Given the description of an element on the screen output the (x, y) to click on. 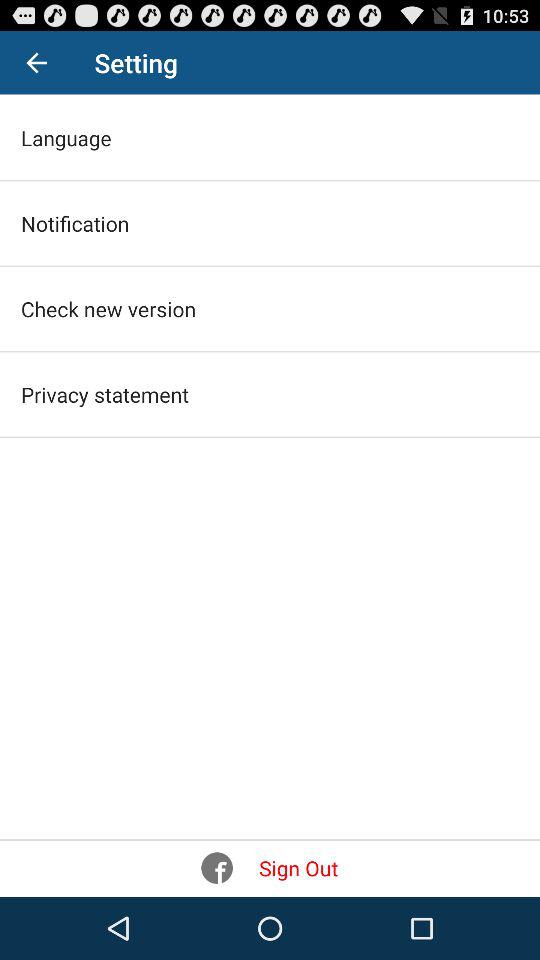
jump to language item (66, 137)
